Given the description of an element on the screen output the (x, y) to click on. 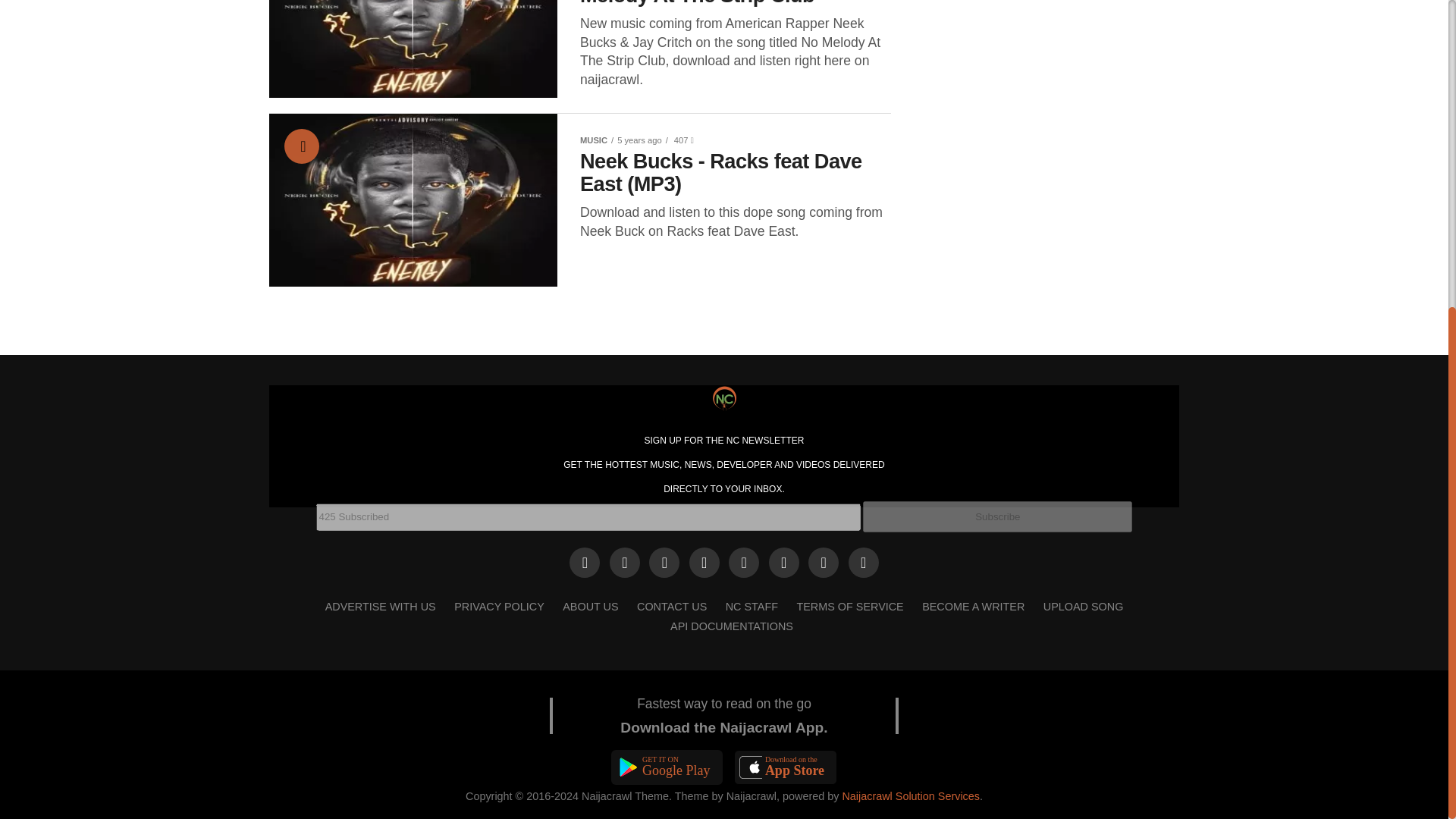
Subscribe (997, 516)
App Store (785, 767)
Google Play (667, 767)
